Given the description of an element on the screen output the (x, y) to click on. 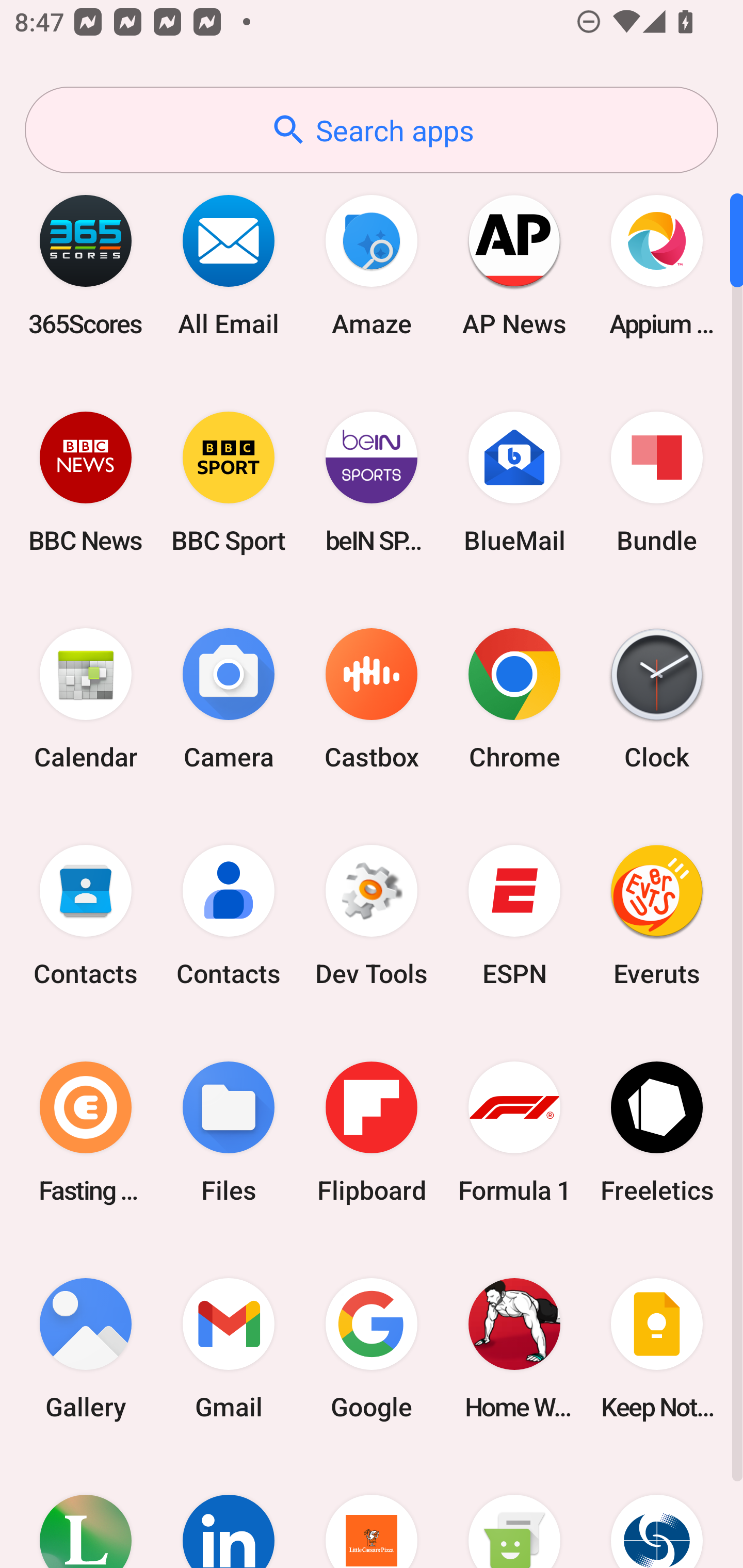
  Search apps (371, 130)
365Scores (85, 264)
All Email (228, 264)
Amaze (371, 264)
AP News (514, 264)
Appium Settings (656, 264)
BBC News (85, 482)
BBC Sport (228, 482)
beIN SPORTS (371, 482)
BlueMail (514, 482)
Bundle (656, 482)
Calendar (85, 699)
Camera (228, 699)
Castbox (371, 699)
Chrome (514, 699)
Clock (656, 699)
Contacts (85, 915)
Contacts (228, 915)
Dev Tools (371, 915)
ESPN (514, 915)
Everuts (656, 915)
Fasting Coach (85, 1131)
Files (228, 1131)
Flipboard (371, 1131)
Formula 1 (514, 1131)
Freeletics (656, 1131)
Gallery (85, 1348)
Gmail (228, 1348)
Google (371, 1348)
Home Workout (514, 1348)
Keep Notes (656, 1348)
